Given the description of an element on the screen output the (x, y) to click on. 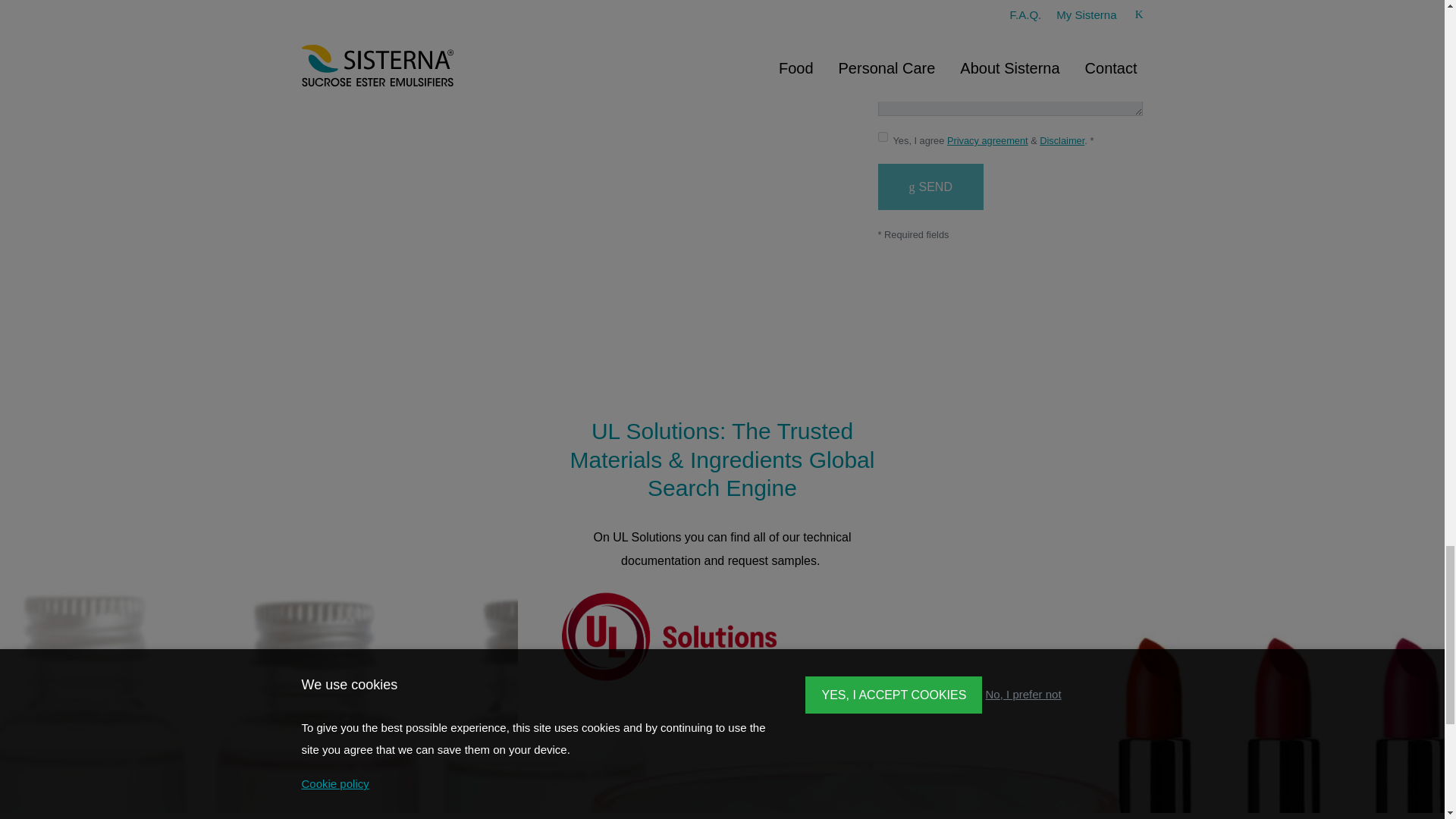
yes (594, 43)
yes (882, 136)
yes (594, 20)
